Given the description of an element on the screen output the (x, y) to click on. 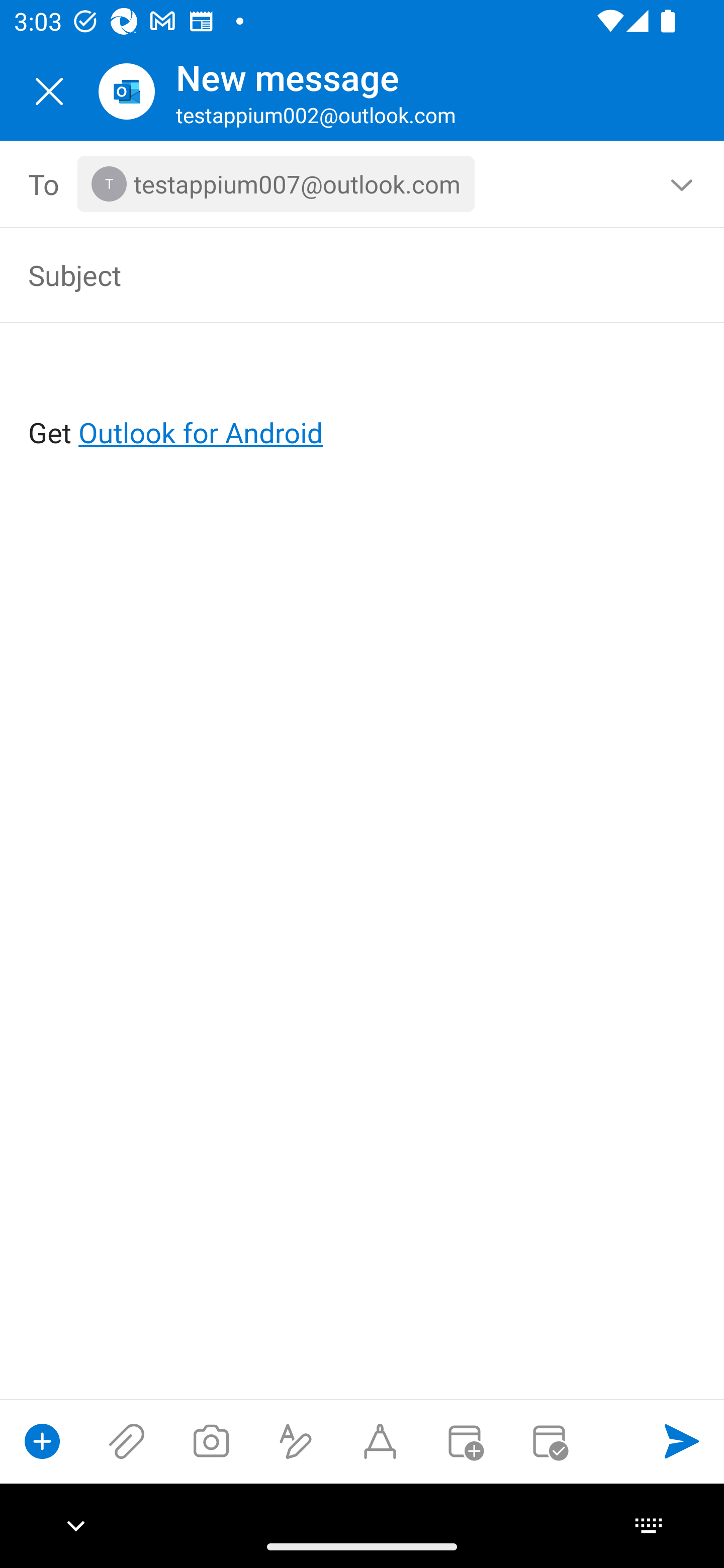
Close (49, 91)
To, 1 recipient <testappium007@outlook.com> (362, 184)
Subject (333, 274)


Get Outlook for Android (363, 400)
Show compose options (42, 1440)
Attach files (126, 1440)
Take a photo (210, 1440)
Show formatting options (295, 1440)
Start Ink compose (380, 1440)
Convert to event (464, 1440)
Send availability (548, 1440)
Send (681, 1440)
